Given the description of an element on the screen output the (x, y) to click on. 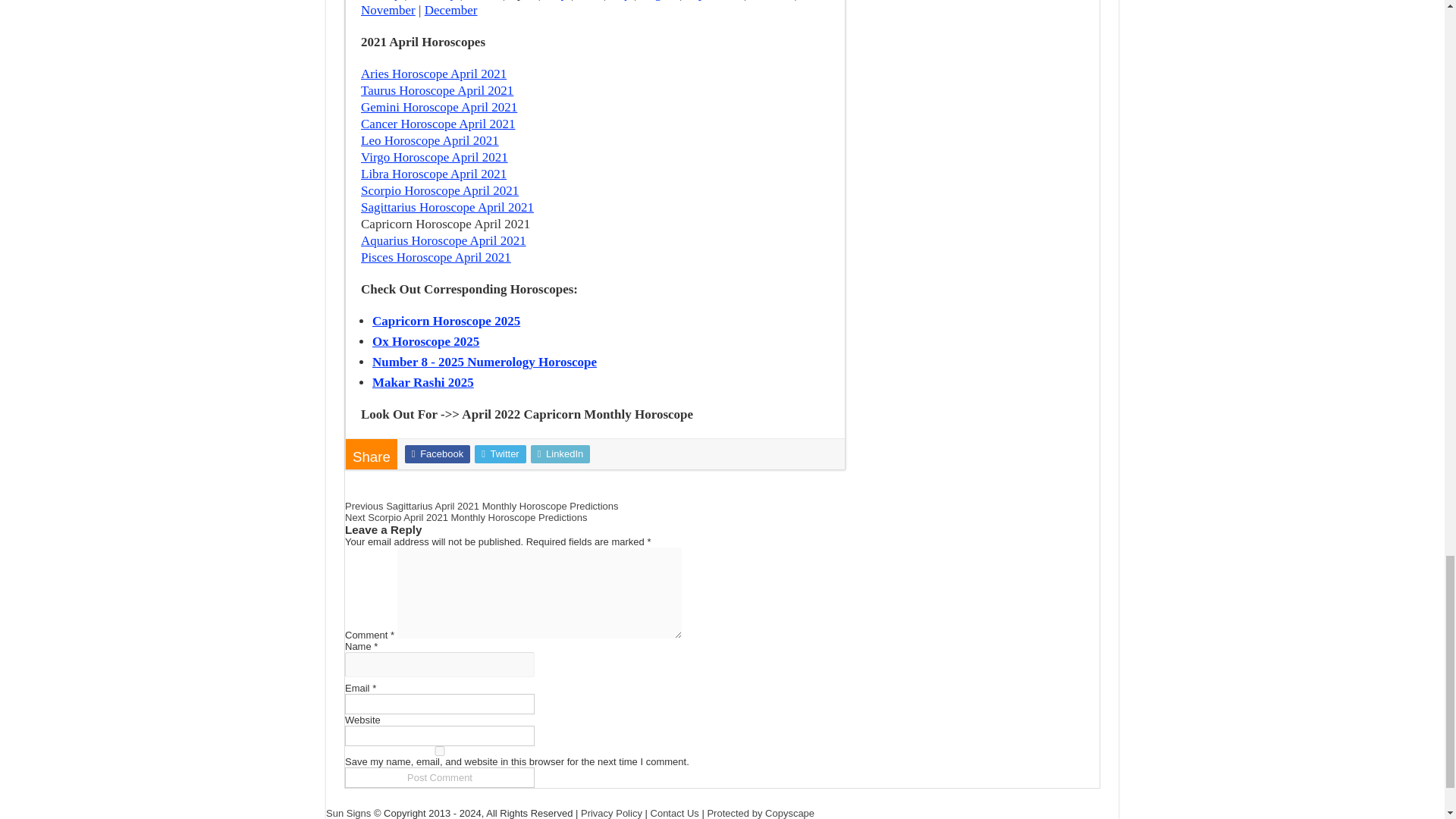
capricorn January 2021 Horoscope (381, 0)
Taurus Horoscope April 2021 (437, 90)
December (451, 10)
January (381, 0)
February (433, 0)
November (387, 10)
yes (439, 750)
